Given the description of an element on the screen output the (x, y) to click on. 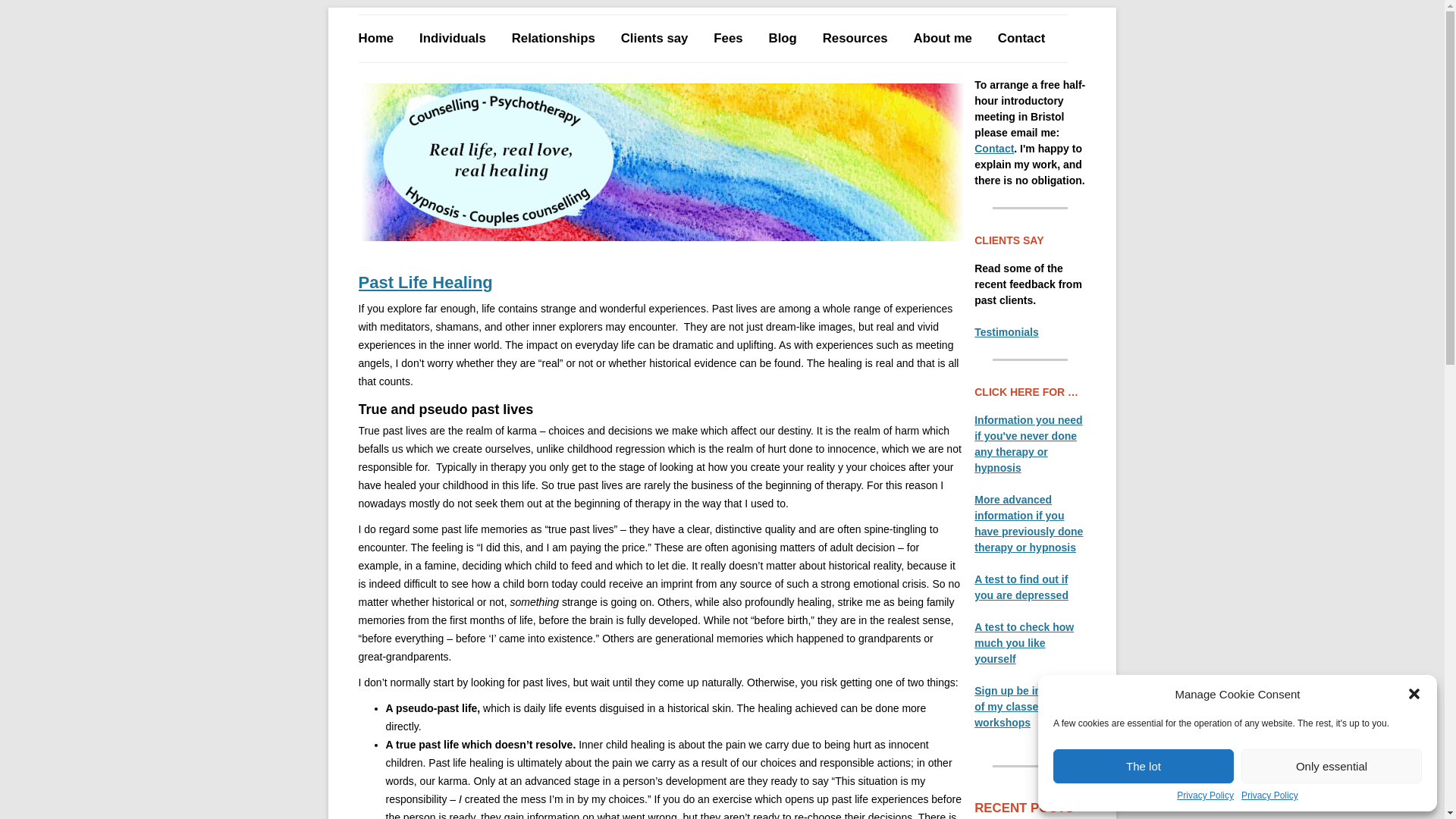
Past Life Healing (660, 282)
Contact (1021, 38)
Resources (855, 38)
Relationships (553, 38)
Privacy Policy (1269, 795)
The lot (1142, 765)
About me (943, 38)
Clients say (654, 38)
